Given the description of an element on the screen output the (x, y) to click on. 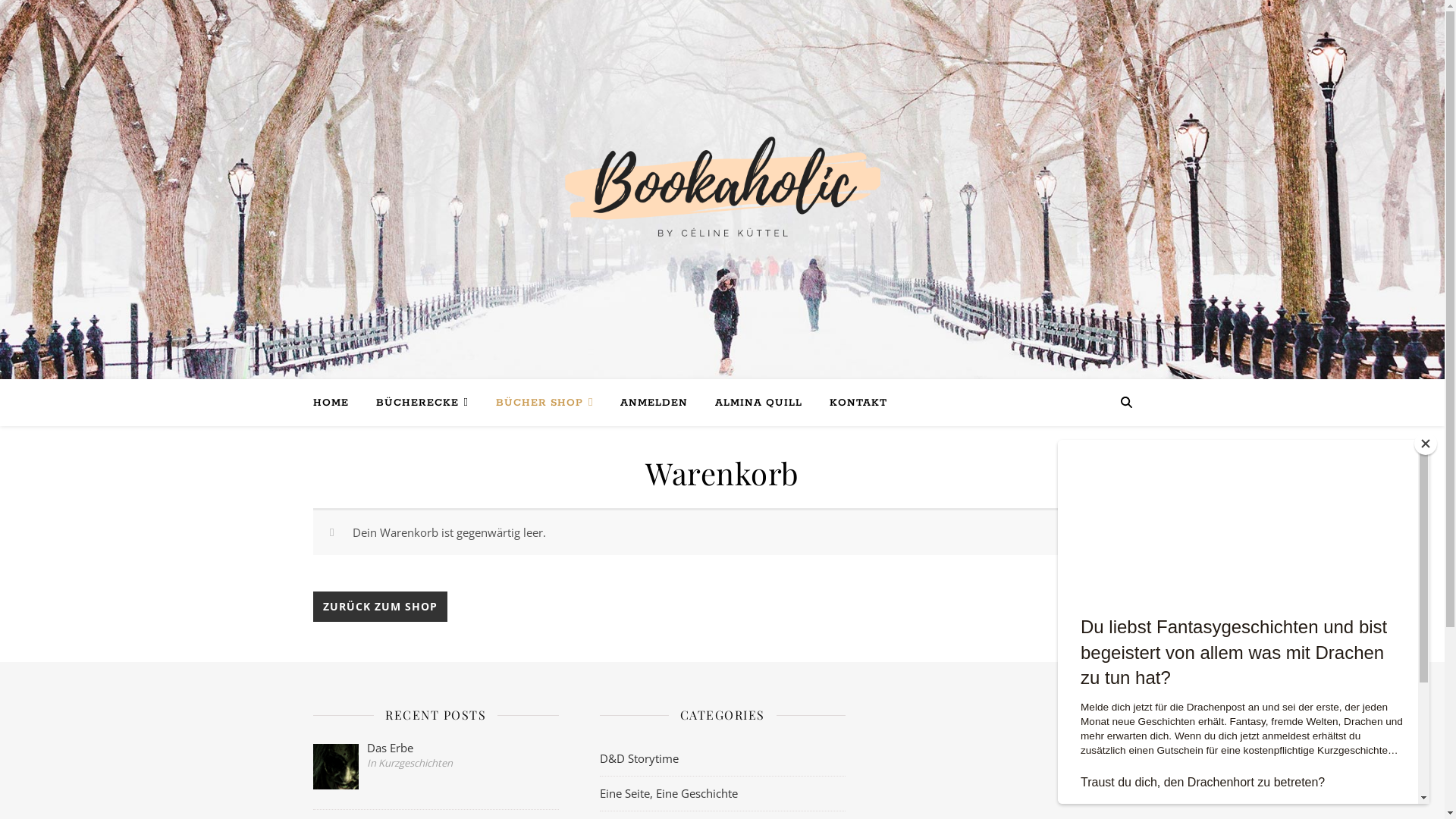
KONTAKT Element type: text (852, 403)
ALMINA QUILL Element type: text (758, 403)
HOME Element type: text (336, 403)
Eine Seite, Eine Geschichte Element type: text (668, 793)
Das Erbe Element type: text (435, 747)
ANMELDEN Element type: text (653, 403)
D&D Storytime Element type: text (638, 758)
Bookaholic Element type: hover (721, 189)
